Given the description of an element on the screen output the (x, y) to click on. 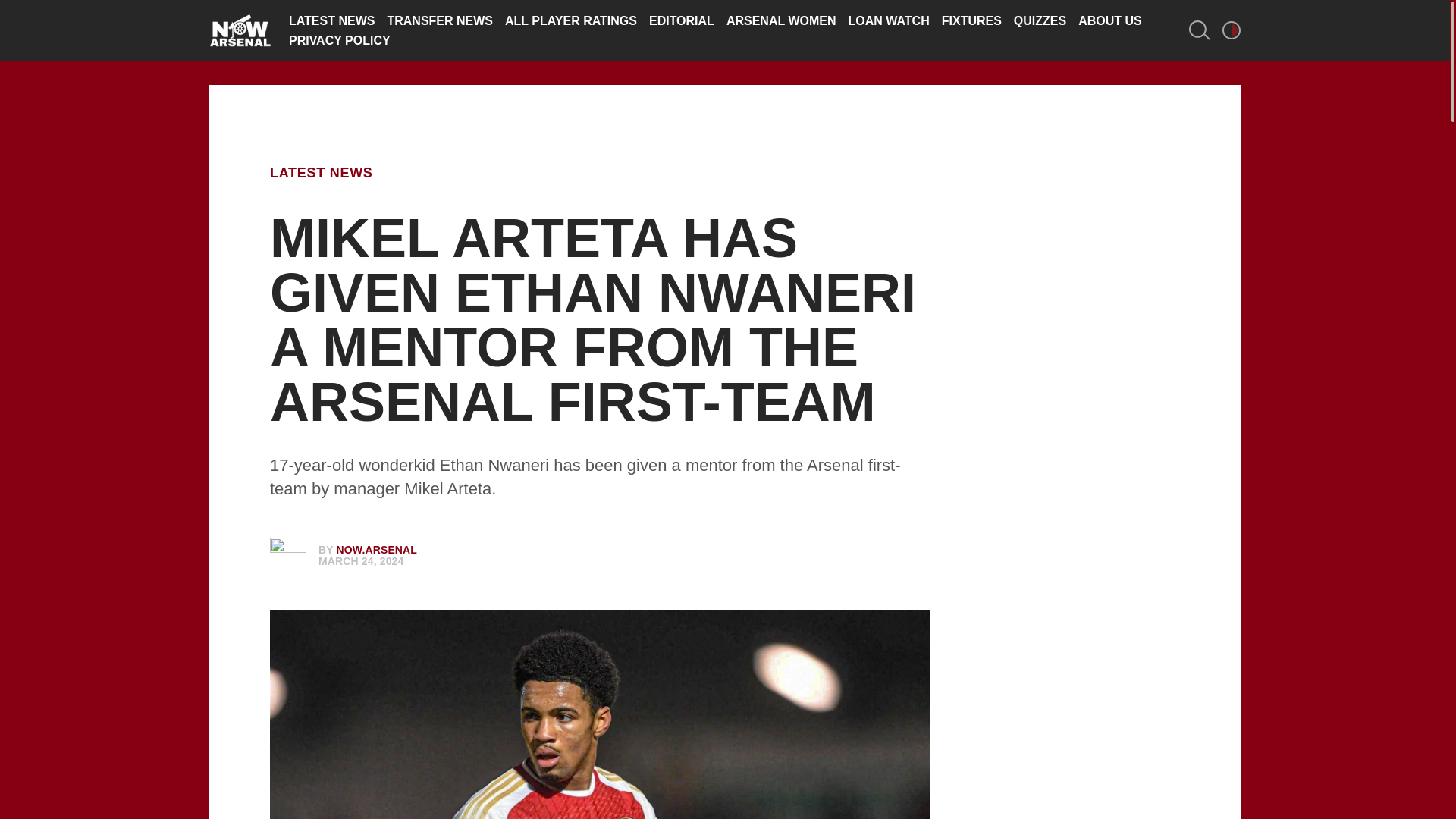
QUIZZES (1039, 20)
FIXTURES (971, 20)
EDITORIAL (681, 20)
LIGHT MODE (1231, 30)
LATEST NEWS (320, 172)
ABOUT US (1109, 20)
LOAN WATCH (887, 20)
TRANSFER NEWS (440, 20)
ALL PLAYER RATINGS (571, 20)
NOW.ARSENAL (376, 549)
PRIVACY POLICY (339, 40)
LATEST NEWS (331, 20)
ARSENAL WOMEN (780, 20)
